Given the description of an element on the screen output the (x, y) to click on. 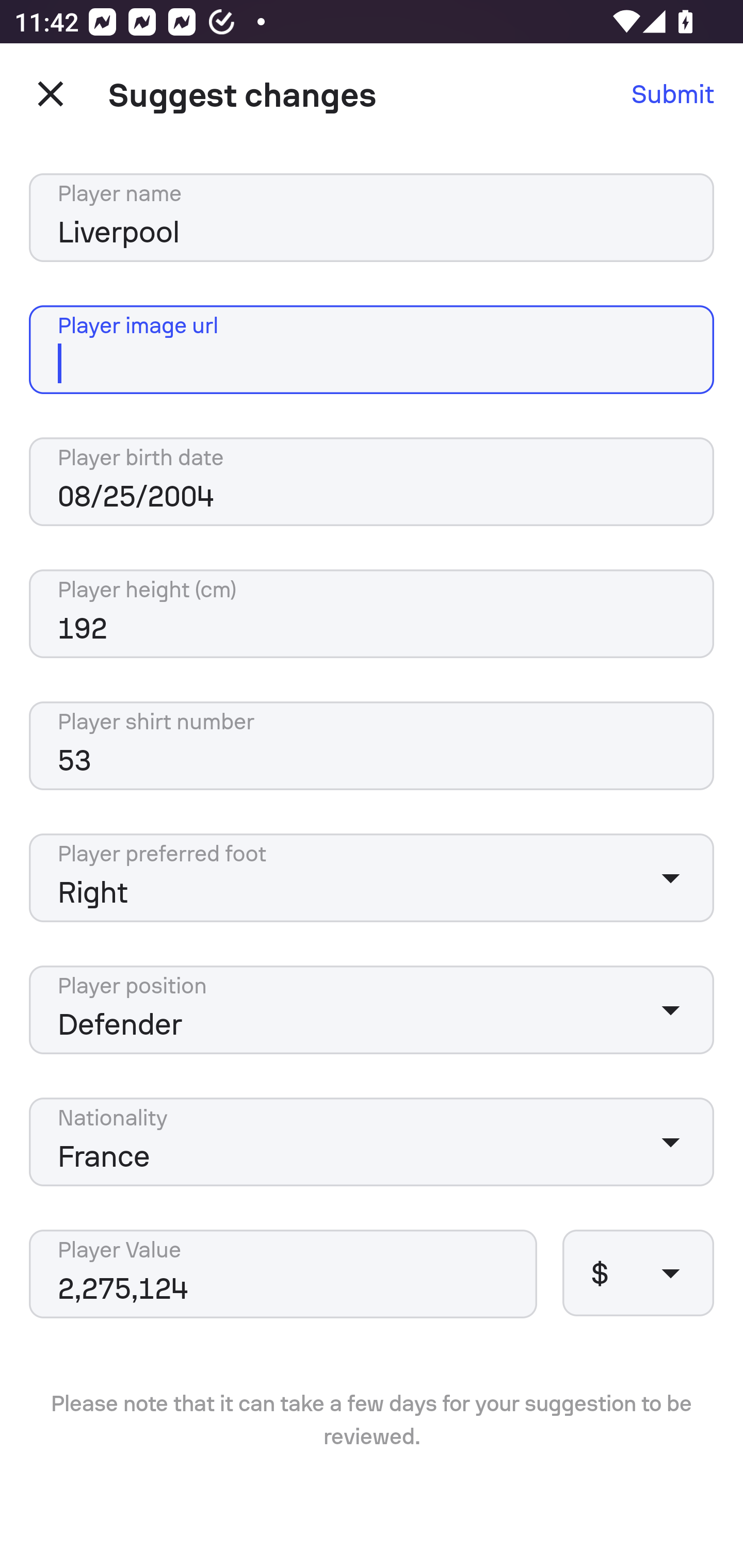
Submit (672, 93)
Liverpool (371, 217)
Player image url (371, 349)
08/25/2004 (371, 481)
192 (371, 613)
53 (371, 745)
Right (371, 877)
Show dropdown menu (670, 877)
Defender (371, 1009)
Show dropdown menu (670, 1009)
France (371, 1141)
Show dropdown menu (670, 1142)
2,275,124 (282, 1273)
$ (638, 1272)
Show dropdown menu (670, 1272)
